Given the description of an element on the screen output the (x, y) to click on. 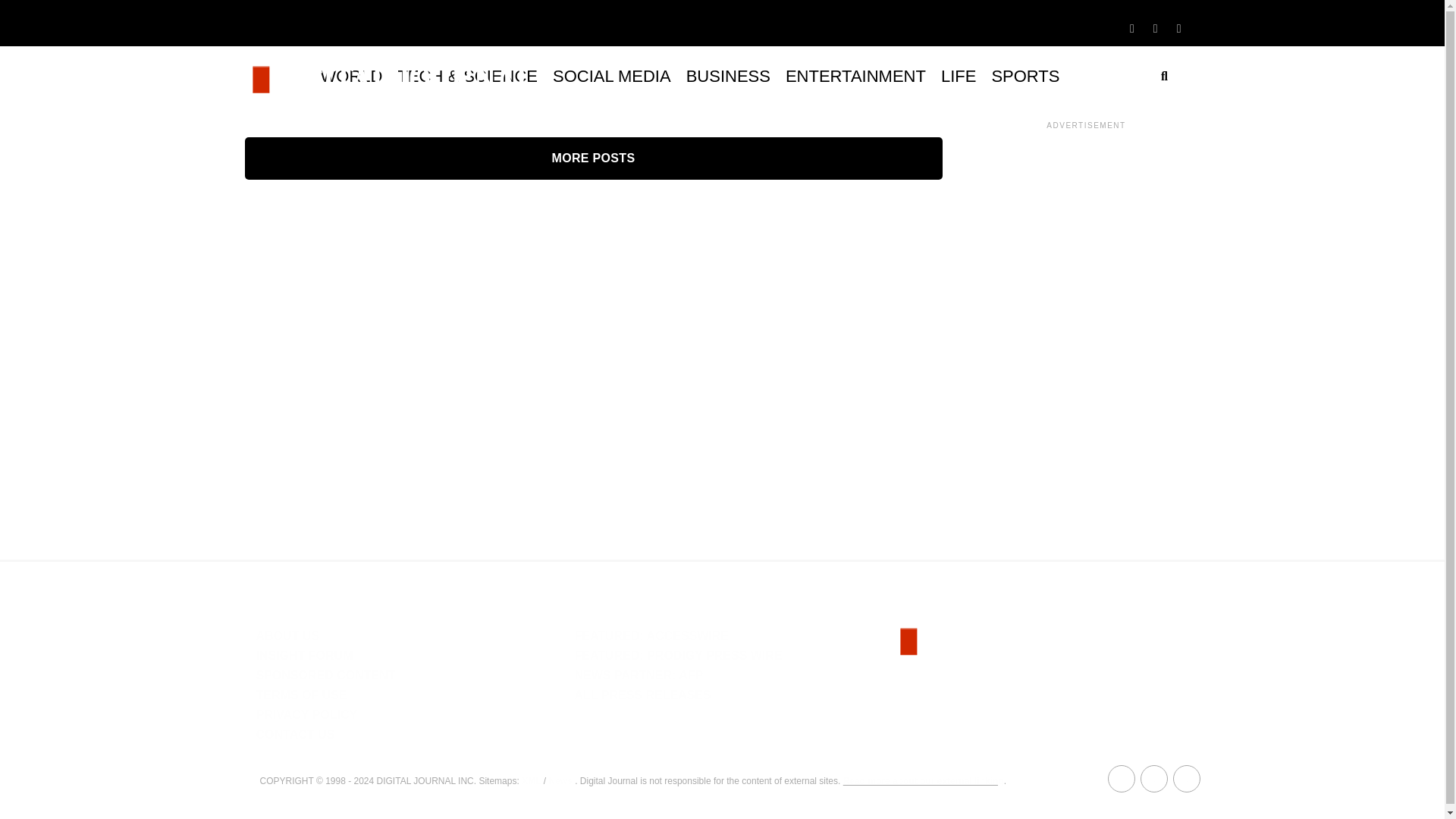
WORLD (351, 76)
News (560, 779)
FEATURED: PRODIGY PRESS WIRE (677, 655)
SOCIAL MEDIA (611, 76)
BUSINESS (727, 76)
INSIGHT FORUM (304, 655)
SPORTS (1025, 76)
CONTACT US (295, 734)
PRIVACY POLICY (307, 714)
ABOUT US (288, 635)
NEWS PARTNER: AFP (638, 675)
Read more about our external linking (923, 779)
XML (530, 779)
MORE POSTS (593, 158)
ALL PRESS RELEASES (641, 694)
